Given the description of an element on the screen output the (x, y) to click on. 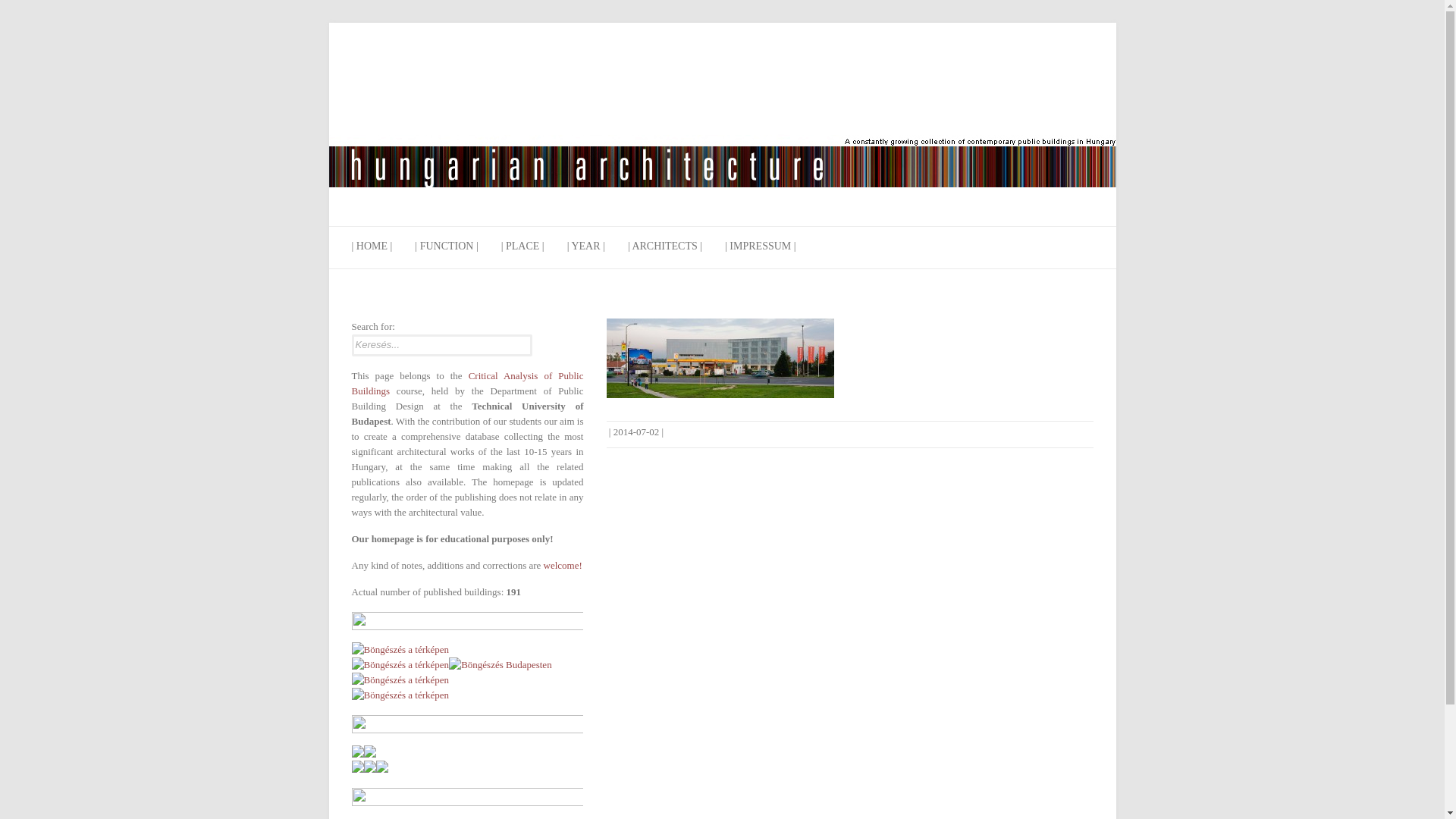
English (576, 329)
17:24 (635, 431)
Hungarian architecture (722, 124)
Magyar (551, 329)
